Given the description of an element on the screen output the (x, y) to click on. 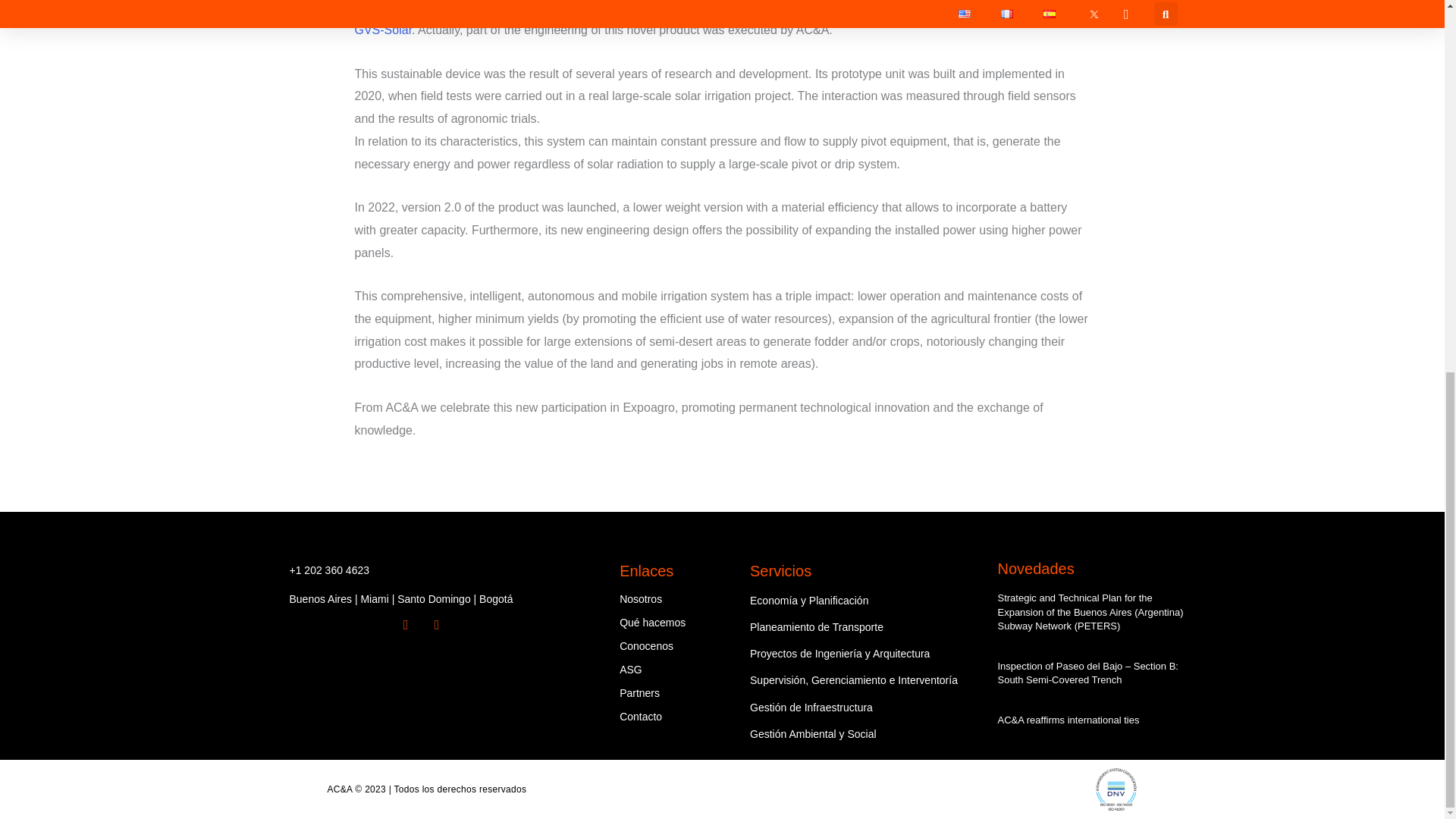
X-twitter (412, 631)
Contacto (641, 716)
ASG (631, 669)
Linkedin (443, 631)
Conocenos (646, 645)
GVS-Solar (383, 29)
Partners (639, 693)
Nosotros (641, 598)
